Given the description of an element on the screen output the (x, y) to click on. 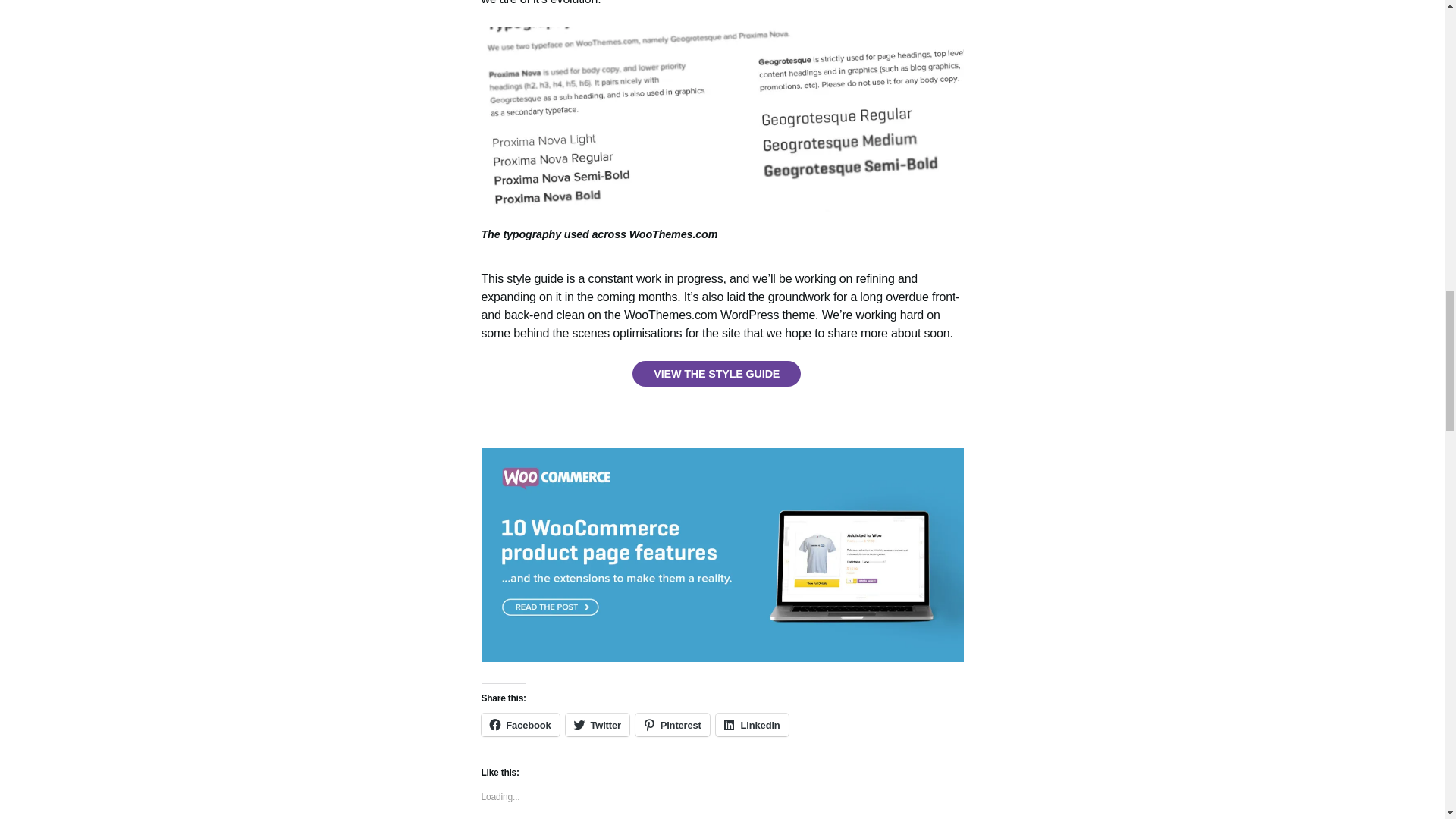
Click to share on Facebook (519, 724)
Click to share on Pinterest (672, 724)
Click to share on LinkedIn (752, 724)
Click to share on Twitter (597, 724)
The WooThemes Style Guide (715, 373)
